Given the description of an element on the screen output the (x, y) to click on. 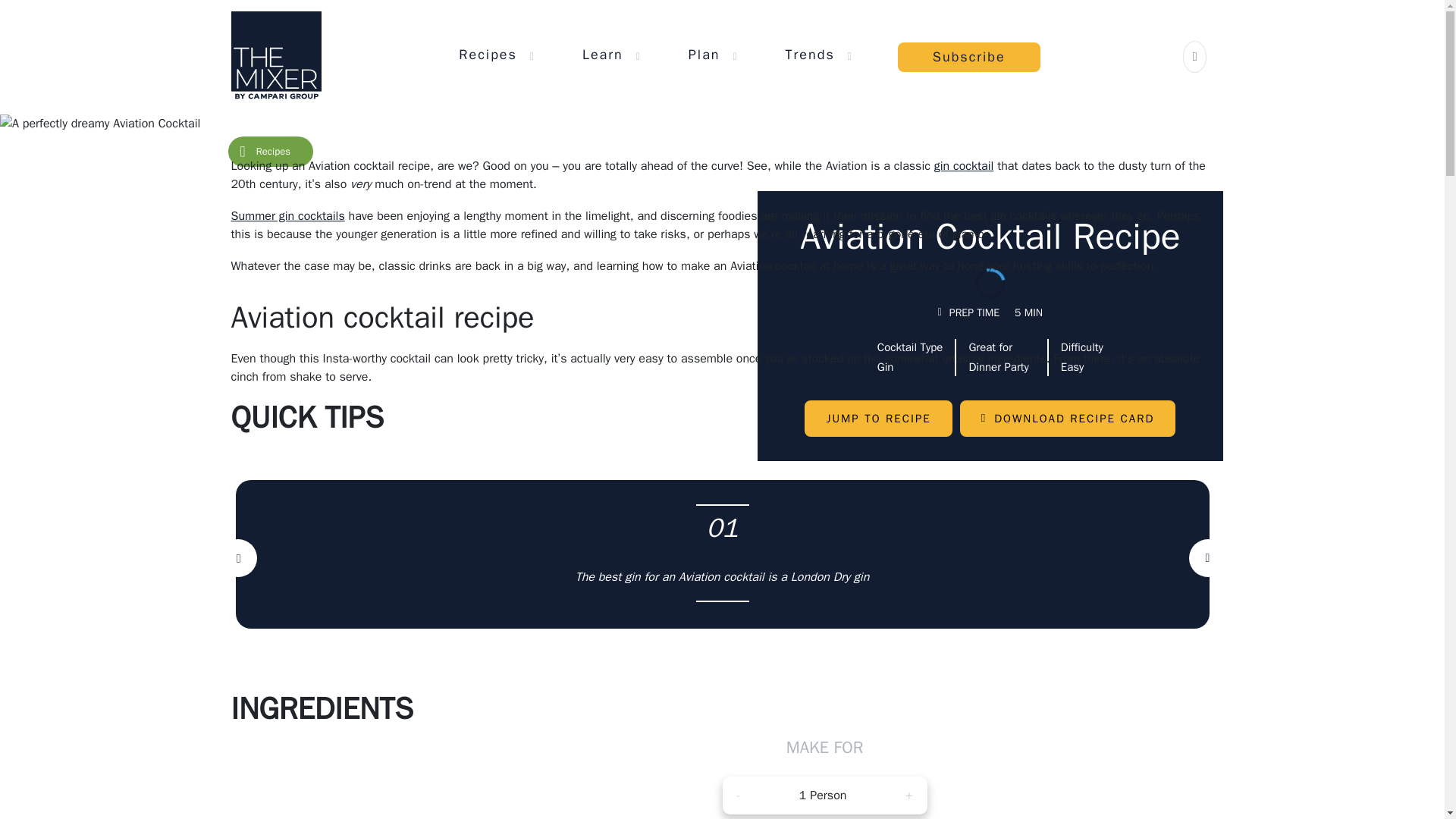
Learn (602, 53)
The Mixer (275, 56)
The Mixer (275, 56)
Plan (704, 53)
Trends (809, 53)
Search Opener (1195, 56)
Recipes (487, 53)
